Given the description of an element on the screen output the (x, y) to click on. 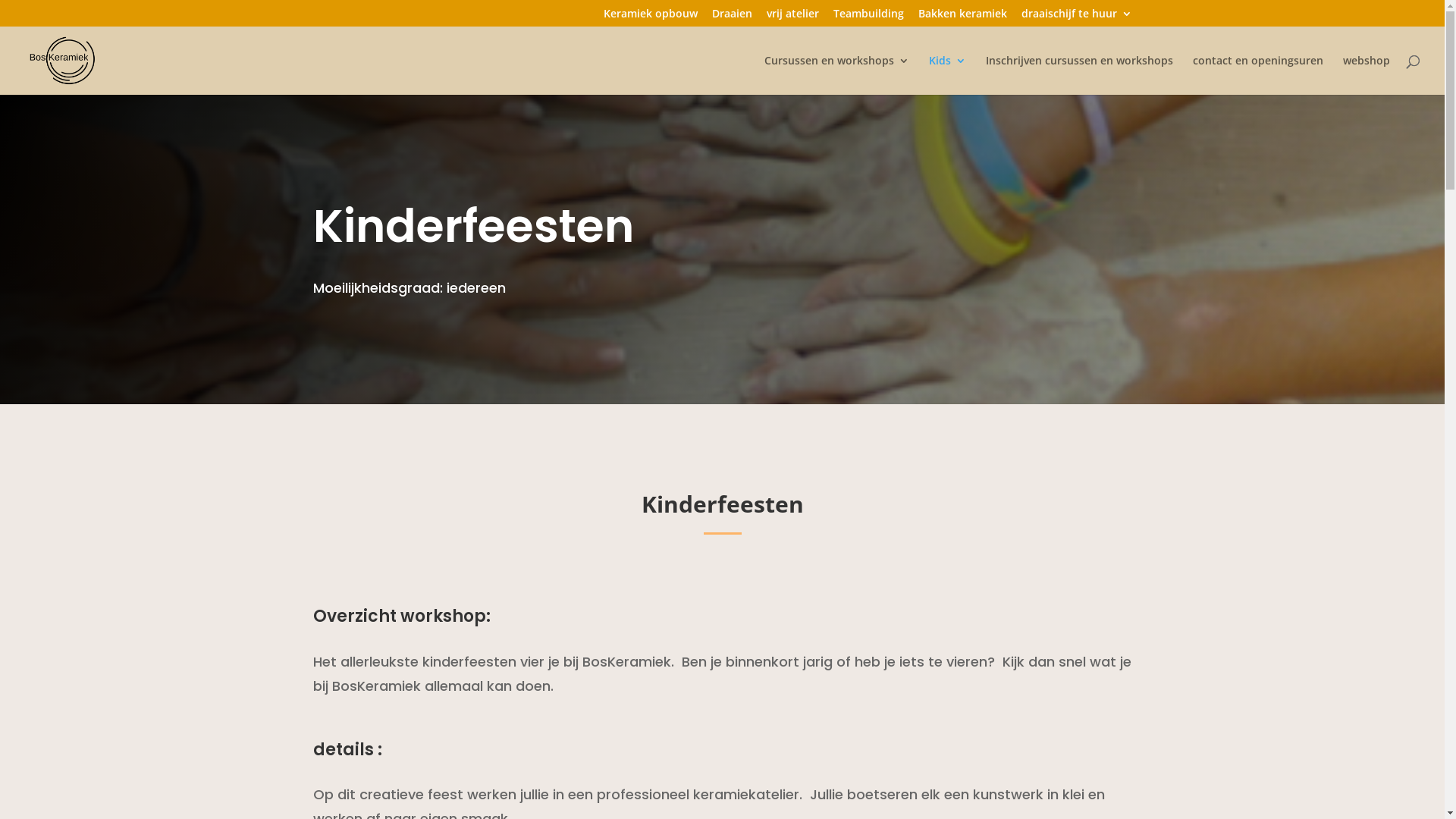
Bakken keramiek Element type: text (961, 16)
webshop Element type: text (1366, 74)
Kids Element type: text (947, 74)
Draaien Element type: text (731, 16)
Keramiek opbouw Element type: text (650, 16)
vrij atelier Element type: text (791, 16)
contact en openingsuren Element type: text (1257, 74)
Inschrijven cursussen en workshops Element type: text (1079, 74)
draaischijf te huur Element type: text (1075, 16)
Cursussen en workshops Element type: text (836, 74)
Teambuilding Element type: text (867, 16)
